Given the description of an element on the screen output the (x, y) to click on. 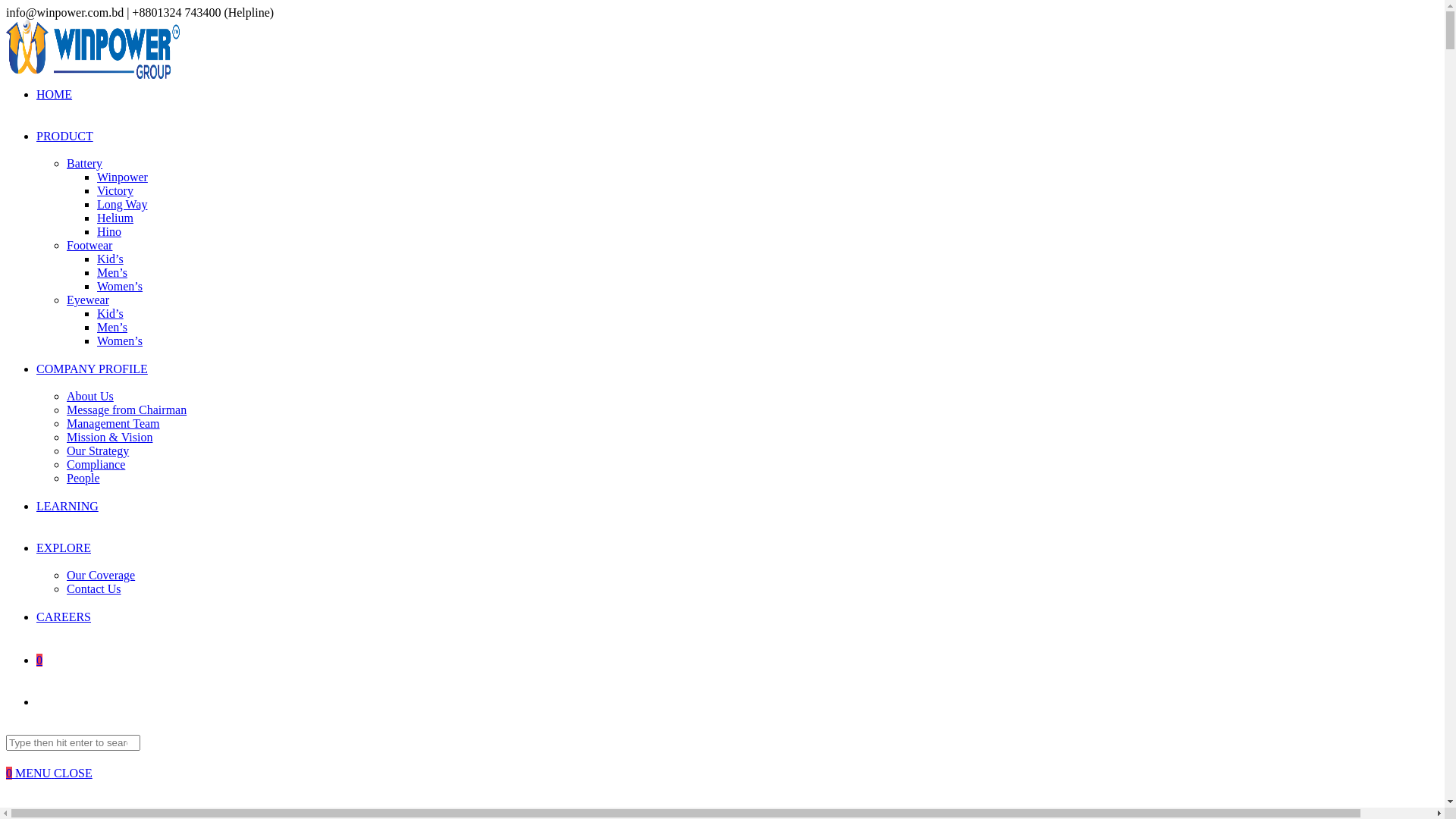
Management Team Element type: text (113, 423)
Compliance Element type: text (95, 464)
Footwear Element type: text (89, 244)
Helium Element type: text (115, 217)
Our Coverage Element type: text (100, 574)
Eyewear Element type: text (87, 299)
Our Strategy Element type: text (97, 450)
Battery Element type: text (84, 162)
Hino Element type: text (109, 231)
HOME Element type: text (54, 93)
Skip to content Element type: text (5, 5)
Long Way Element type: text (122, 203)
CAREERS Element type: text (63, 616)
Mission & Vision Element type: text (109, 436)
About Us Element type: text (89, 395)
EXPLORE Element type: text (63, 547)
People Element type: text (83, 477)
Victory Element type: text (115, 190)
MENU CLOSE Element type: text (53, 772)
0 Element type: text (39, 659)
Winpower Element type: text (122, 176)
0 Element type: text (10, 772)
Message from Chairman Element type: text (126, 409)
LEARNING Element type: text (67, 505)
Contact Us Element type: text (93, 588)
COMPANY PROFILE Element type: text (91, 368)
PRODUCT Element type: text (64, 135)
